Given the description of an element on the screen output the (x, y) to click on. 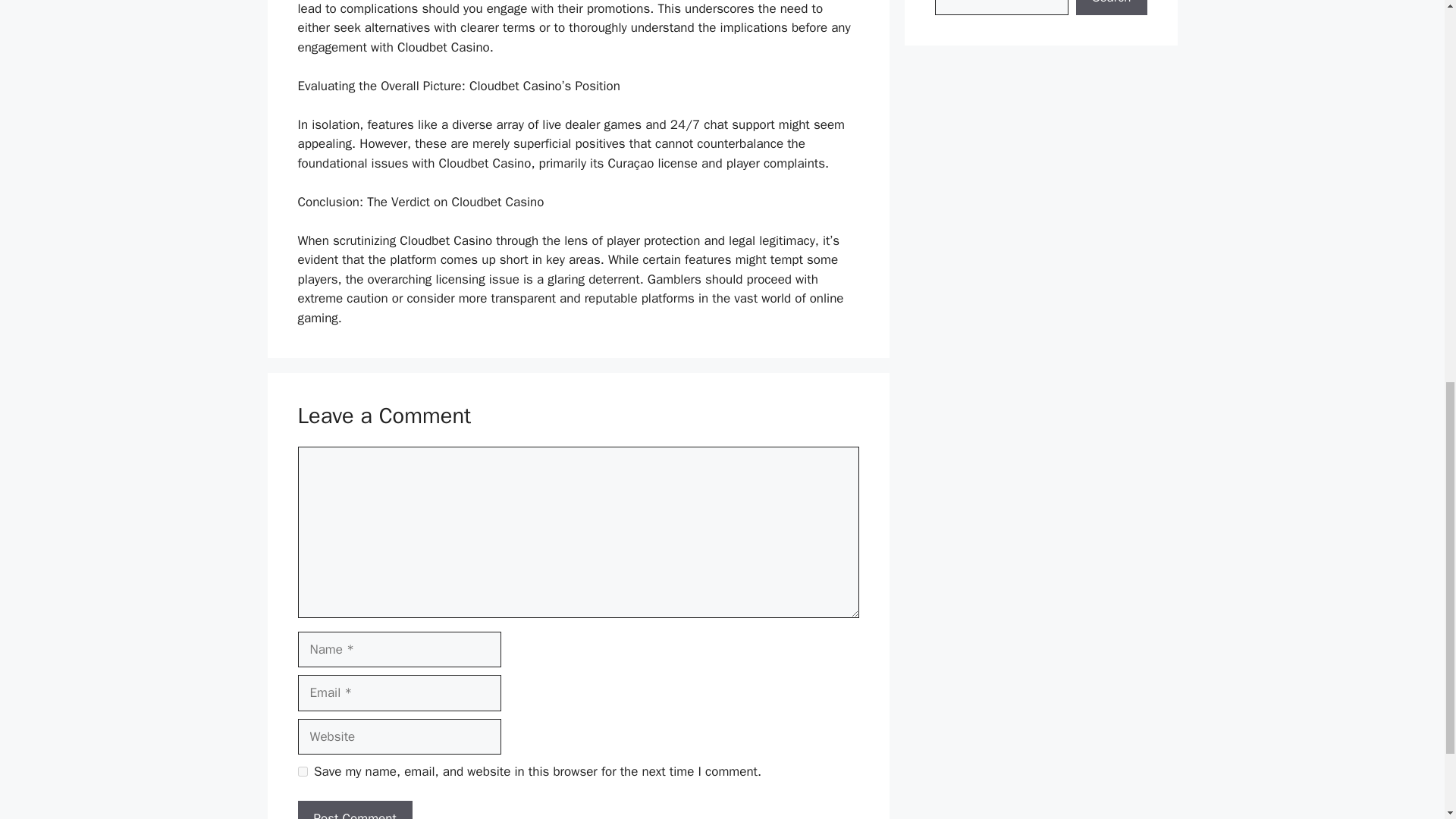
Post Comment (354, 809)
Post Comment (354, 809)
yes (302, 771)
